Given the description of an element on the screen output the (x, y) to click on. 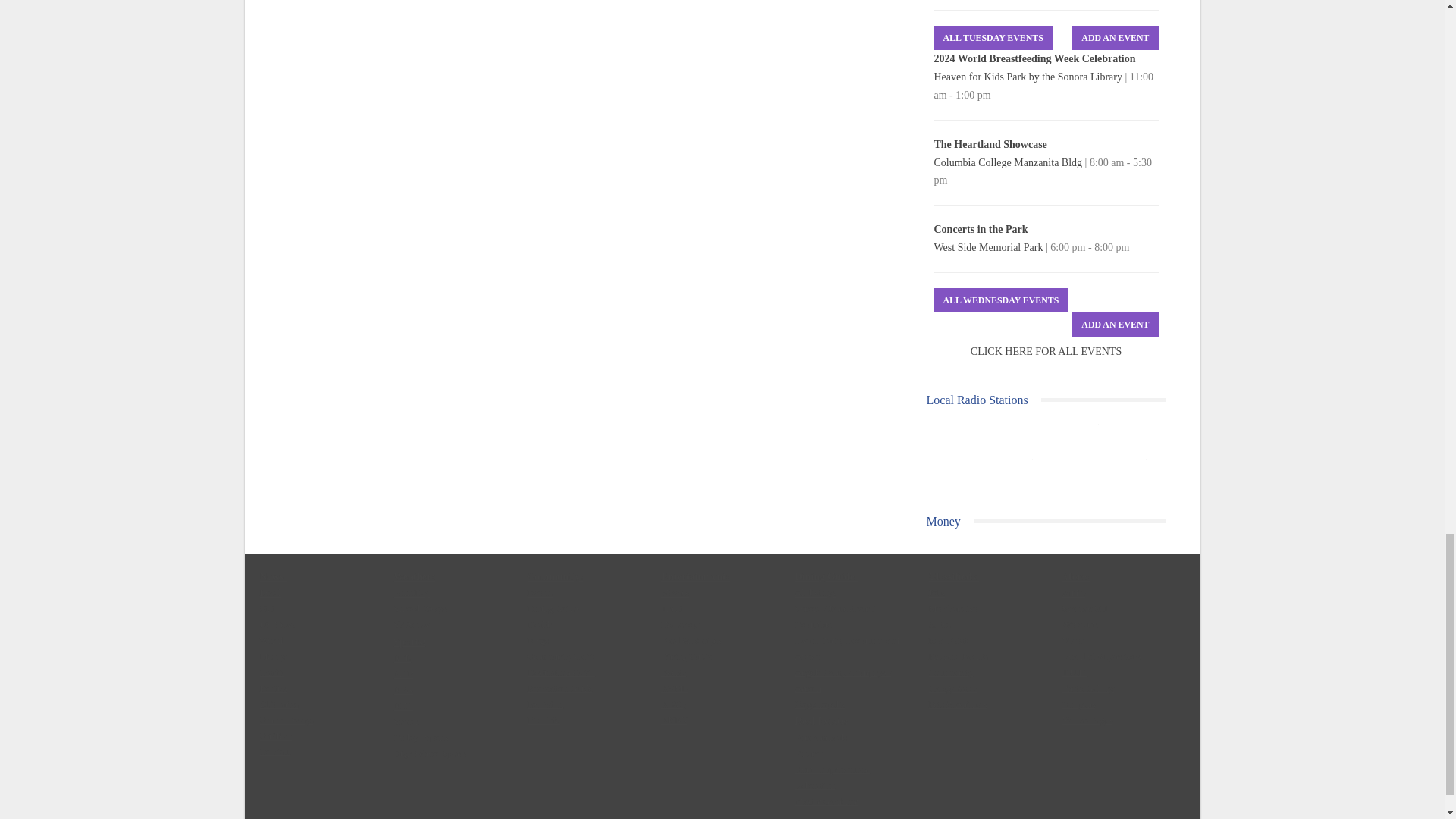
Add An Event (1114, 37)
Add An Event (1114, 324)
All Tuesday Events (993, 37)
All Wednesday Events (1001, 300)
